Given the description of an element on the screen output the (x, y) to click on. 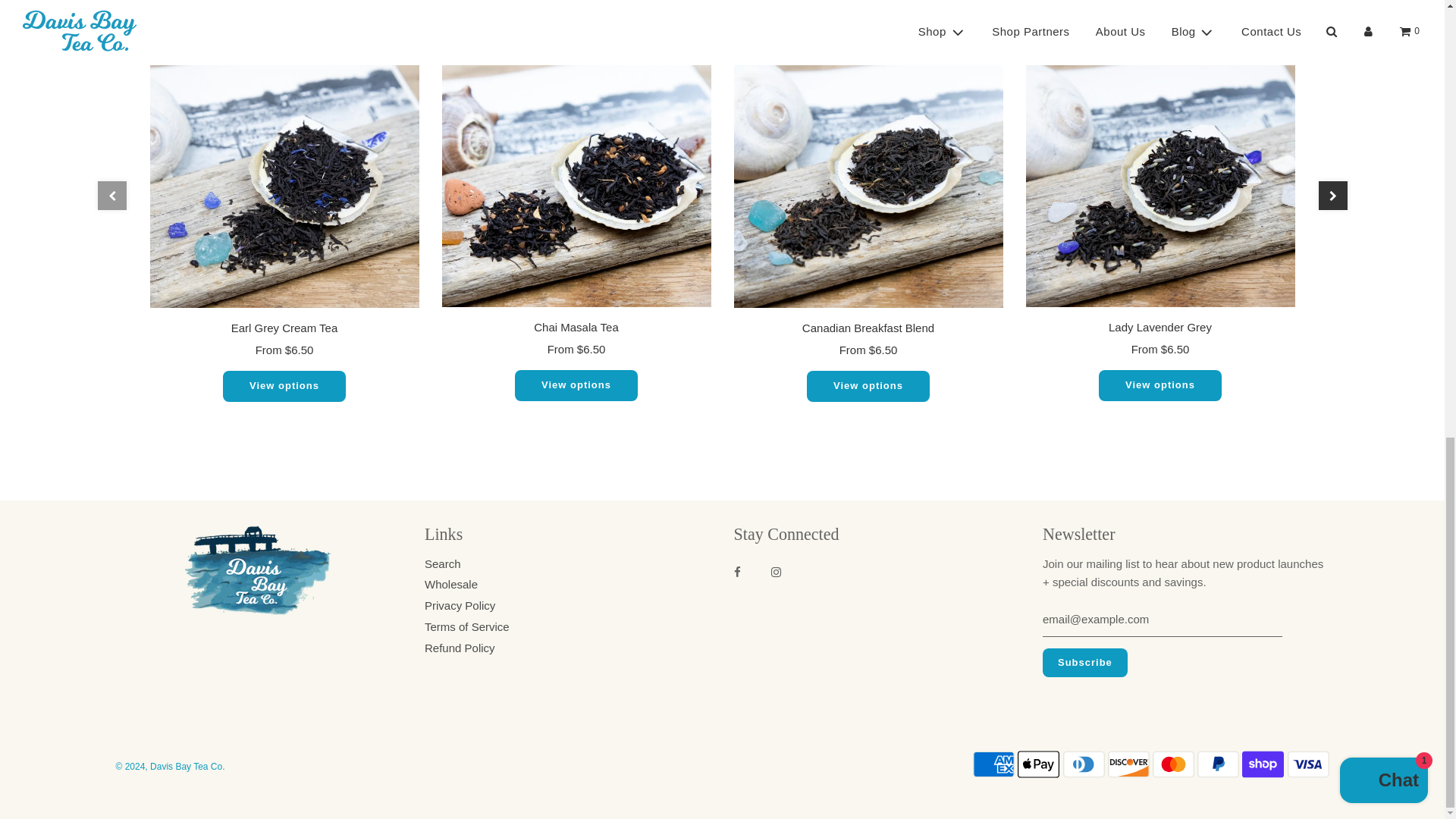
Canadian Breakfast Blend (868, 172)
Mastercard (1173, 764)
Lady Lavender Grey (1159, 172)
American Express (993, 764)
Discover (1129, 764)
Diners Club (1083, 764)
PayPal (1217, 764)
Apple Pay (1038, 764)
Visa (1308, 764)
Earl Grey Cream Tea (284, 172)
Chai Masala Tea (575, 172)
Subscribe (1084, 662)
Shop Pay (1262, 764)
